Given the description of an element on the screen output the (x, y) to click on. 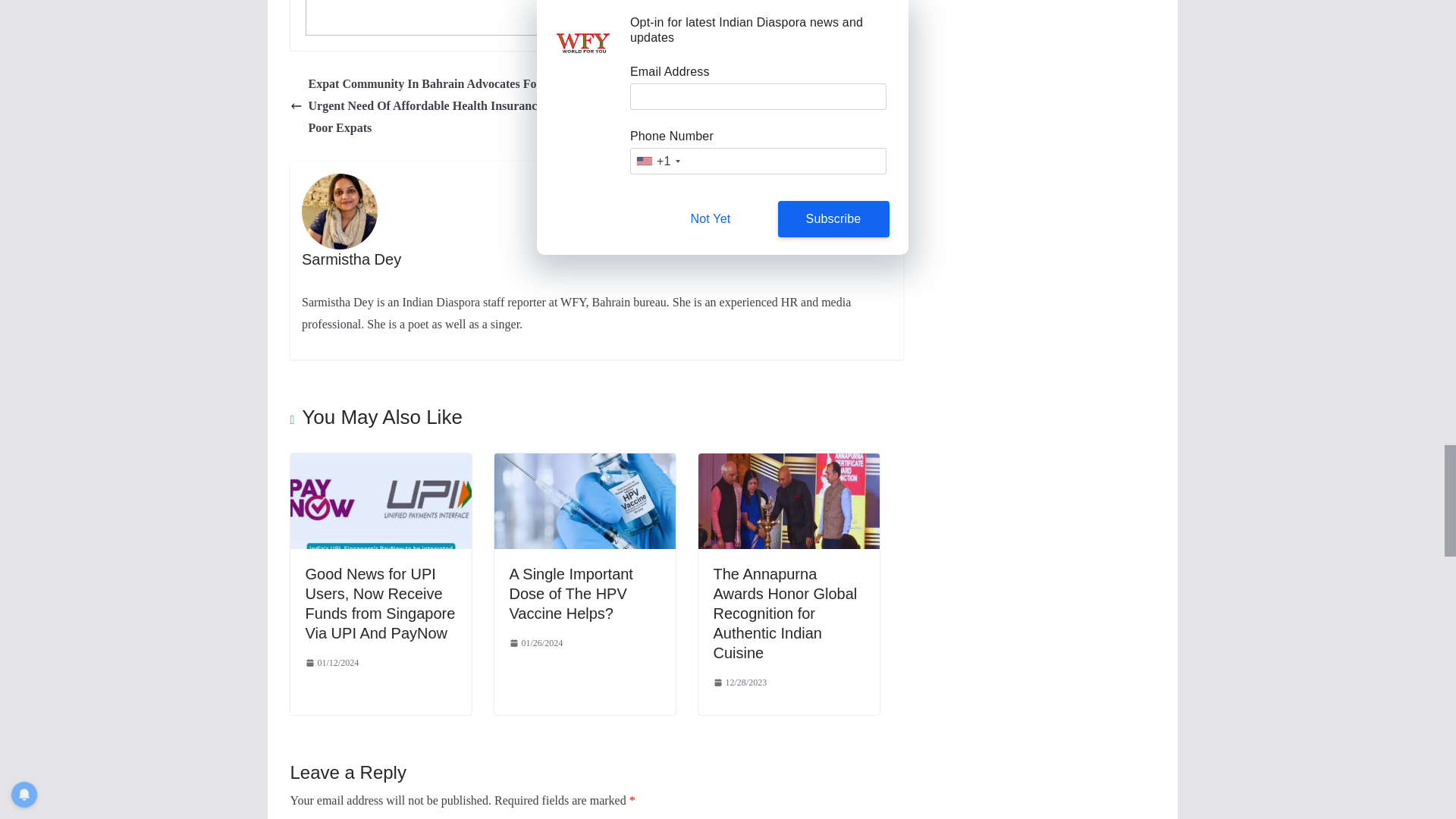
12:18 am (331, 663)
A Single Important Dose of The HPV Vaccine Helps? (571, 593)
A Single Important Dose of The HPV Vaccine Helps? (585, 463)
